Given the description of an element on the screen output the (x, y) to click on. 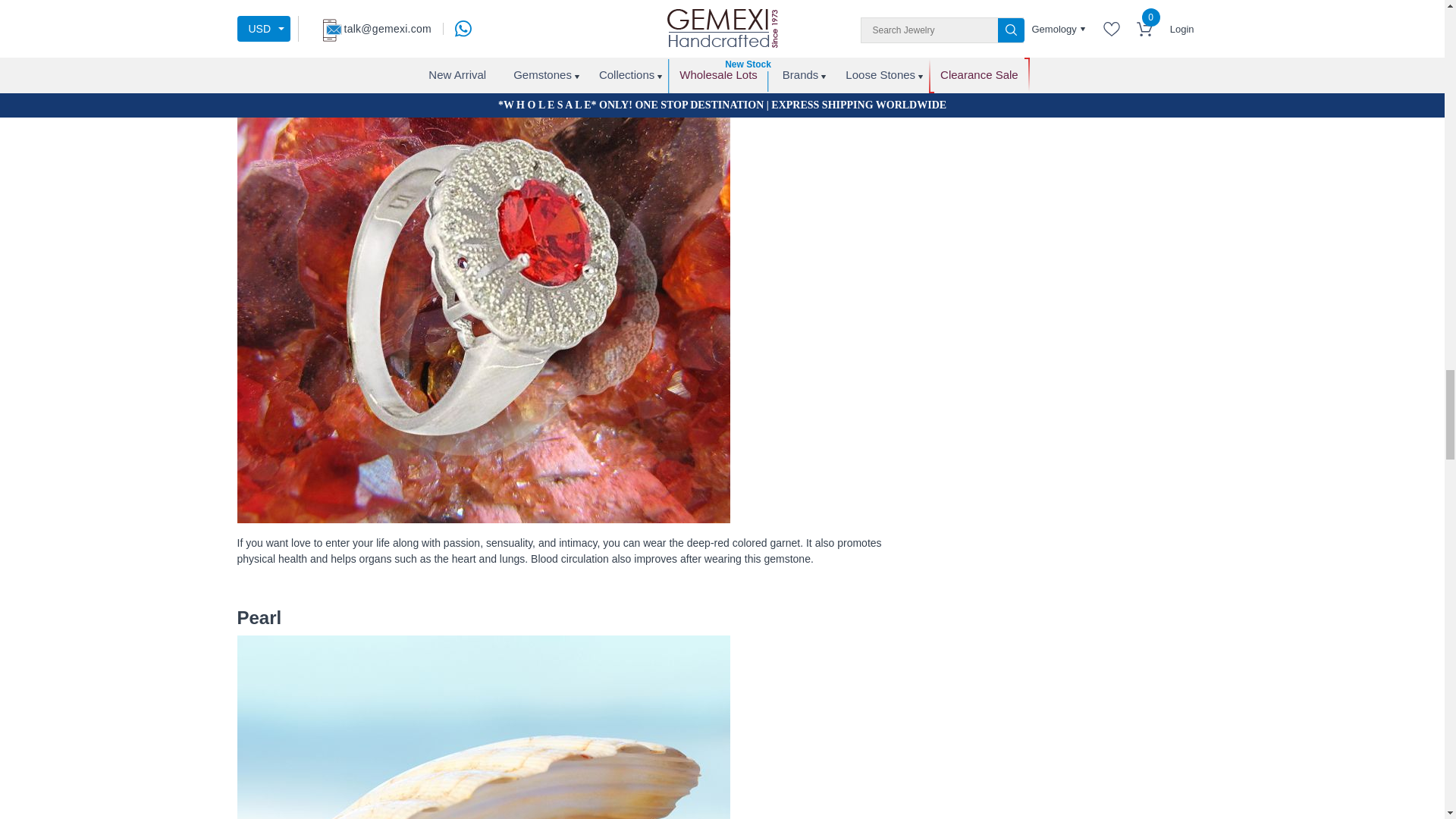
pearl gemstone healing (482, 727)
